Given the description of an element on the screen output the (x, y) to click on. 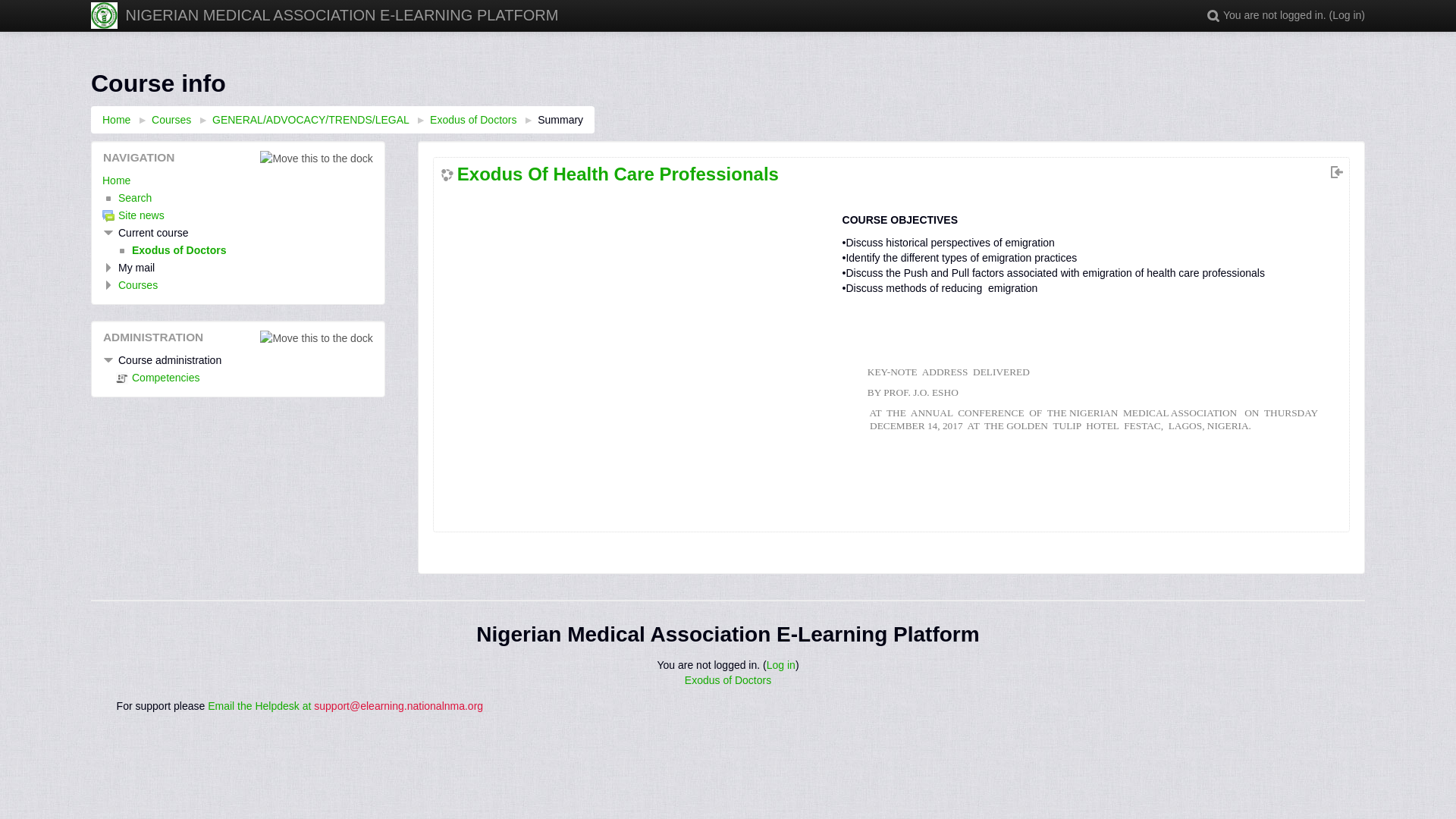
Exodus Of Health Care Professionals (170, 250)
Site news (132, 215)
Exodus Of Health Care Professionals (609, 174)
Home (116, 119)
Dock Navigation block (316, 158)
Email the Helpdesk at (261, 705)
Search (1213, 15)
Home (341, 15)
Exodus Of Health Care Professionals (472, 119)
Log in (780, 664)
